Given the description of an element on the screen output the (x, y) to click on. 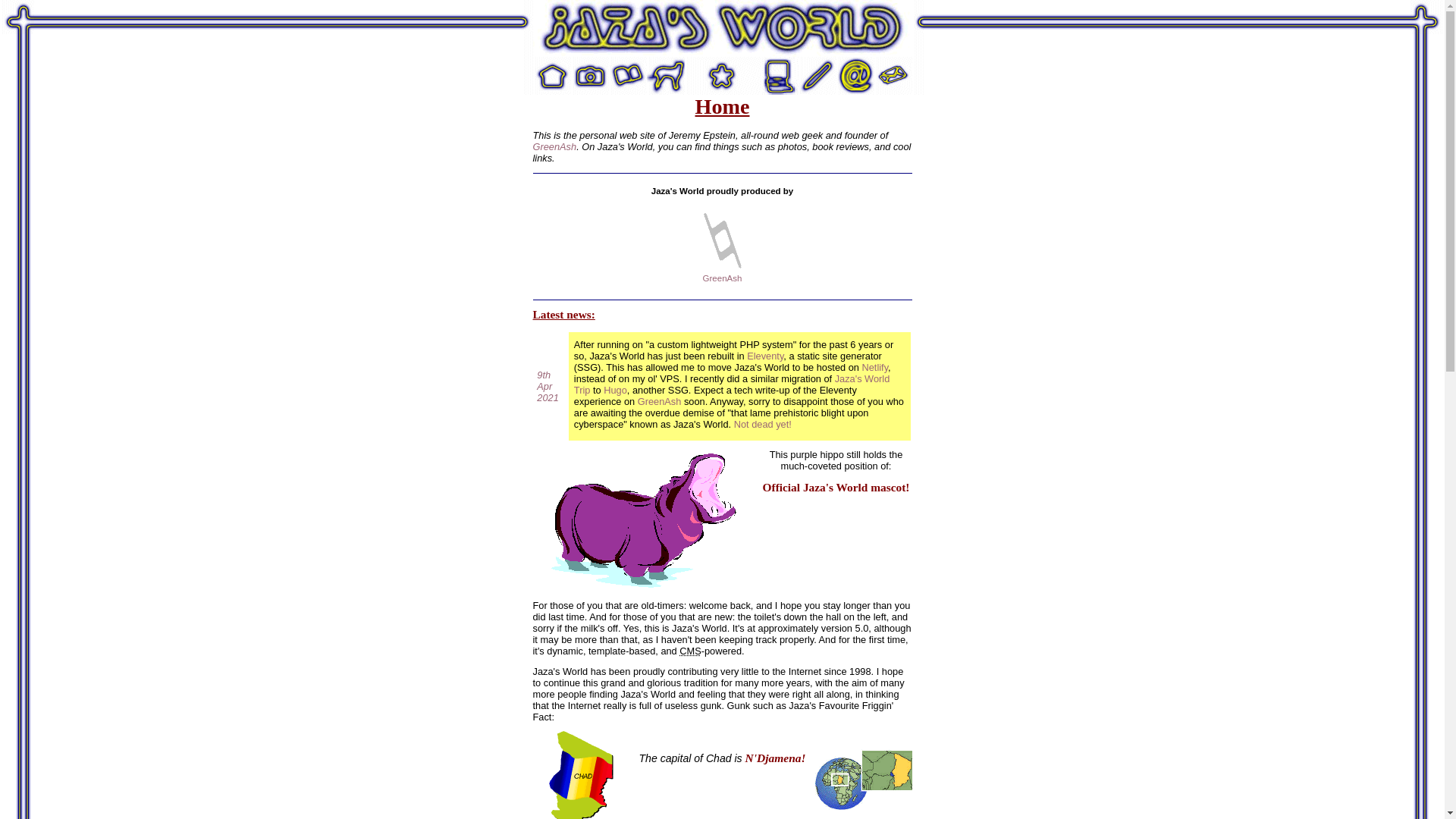
9th Apr 2021 Element type: text (547, 386)
Hugo Element type: text (615, 389)
GreenAsh Element type: text (659, 401)
Jaza's World Trip Element type: text (731, 384)
GreenAsh Element type: text (722, 277)
GreenAsh Element type: text (554, 146)
Eleventy Element type: text (764, 355)
Not dead yet! Element type: text (762, 423)
Netlify Element type: text (874, 367)
Home Element type: hover (721, 28)
